Given the description of an element on the screen output the (x, y) to click on. 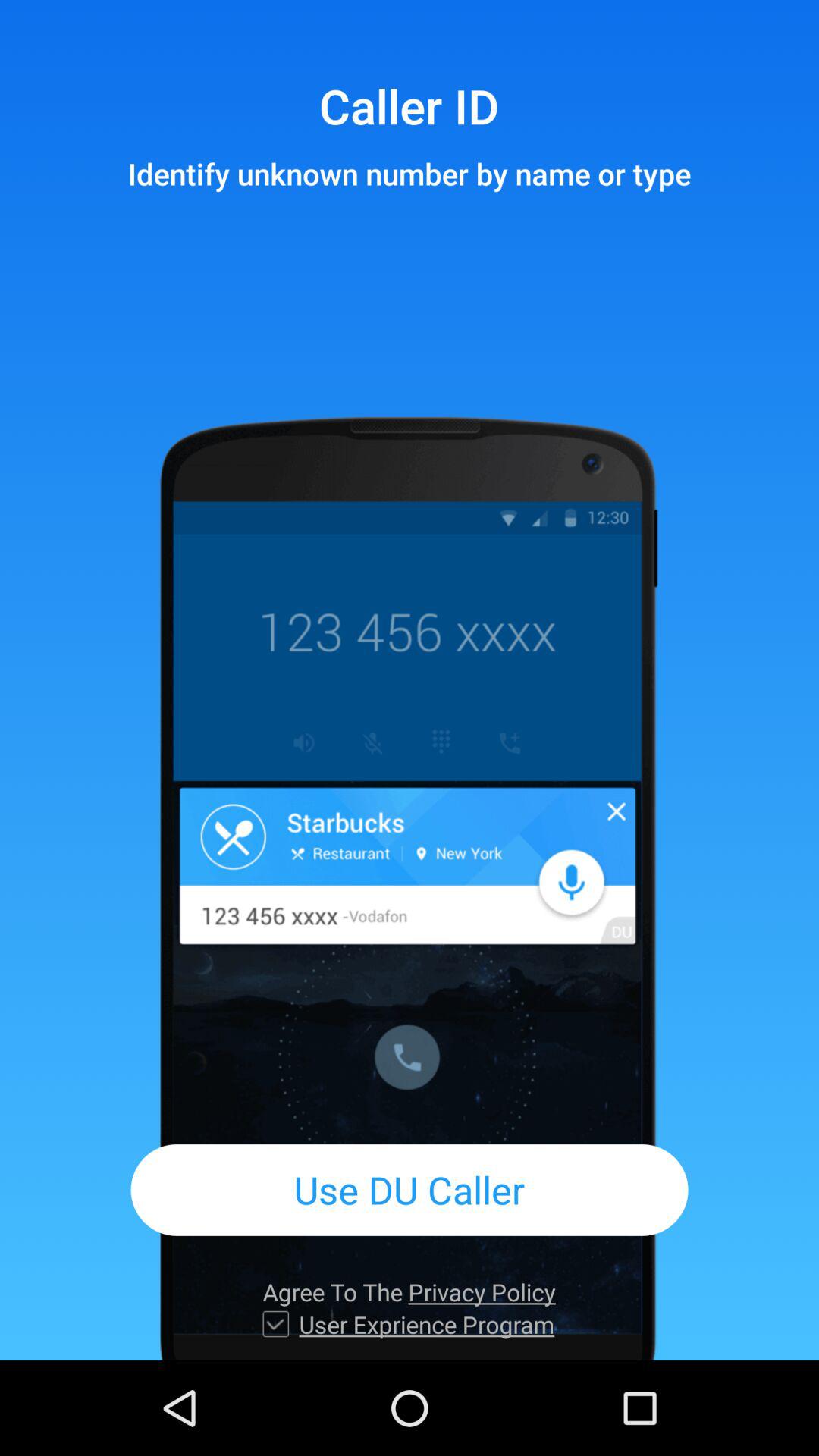
choose item above agree to the item (409, 1189)
